Given the description of an element on the screen output the (x, y) to click on. 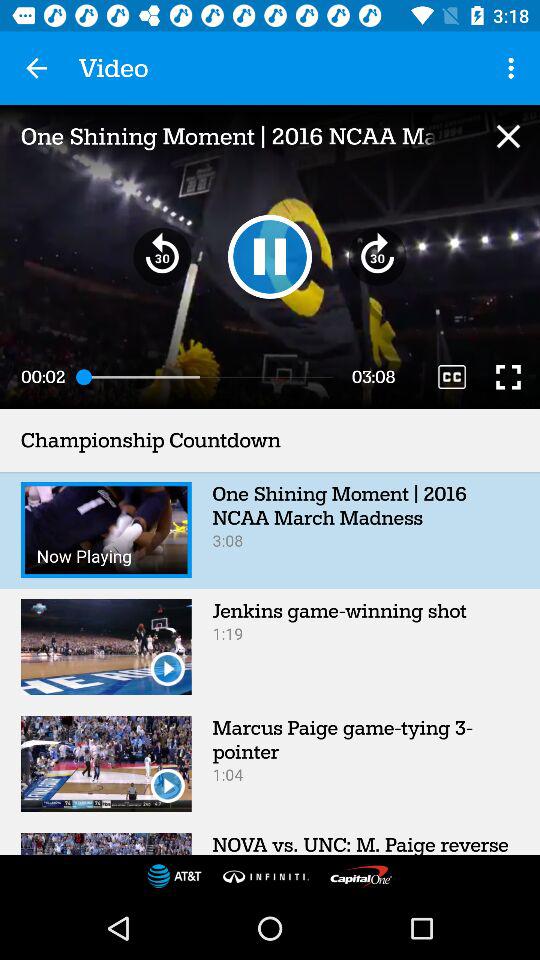
rewind 30 seconds (161, 256)
